Given the description of an element on the screen output the (x, y) to click on. 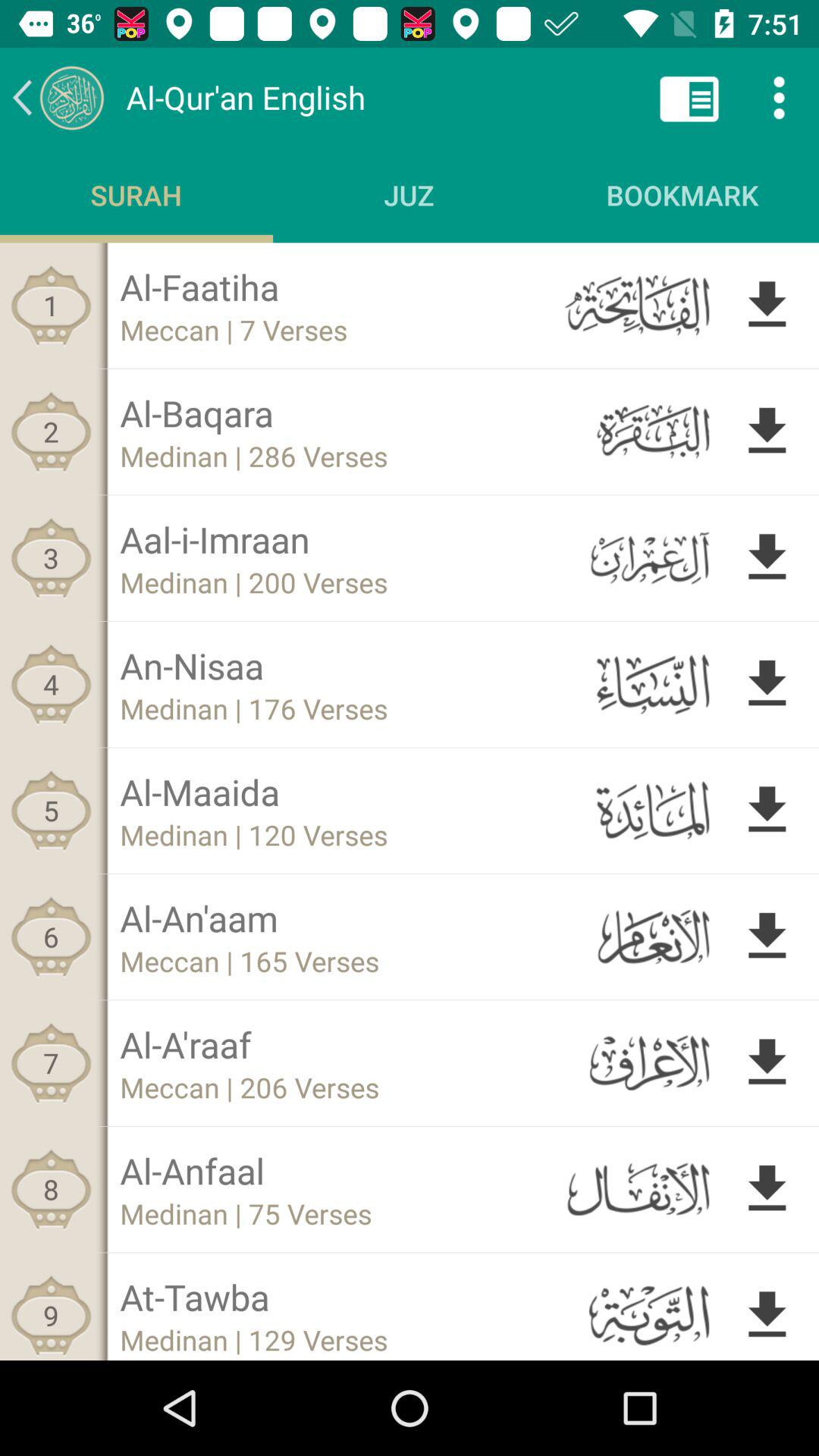
download option (767, 936)
